Given the description of an element on the screen output the (x, y) to click on. 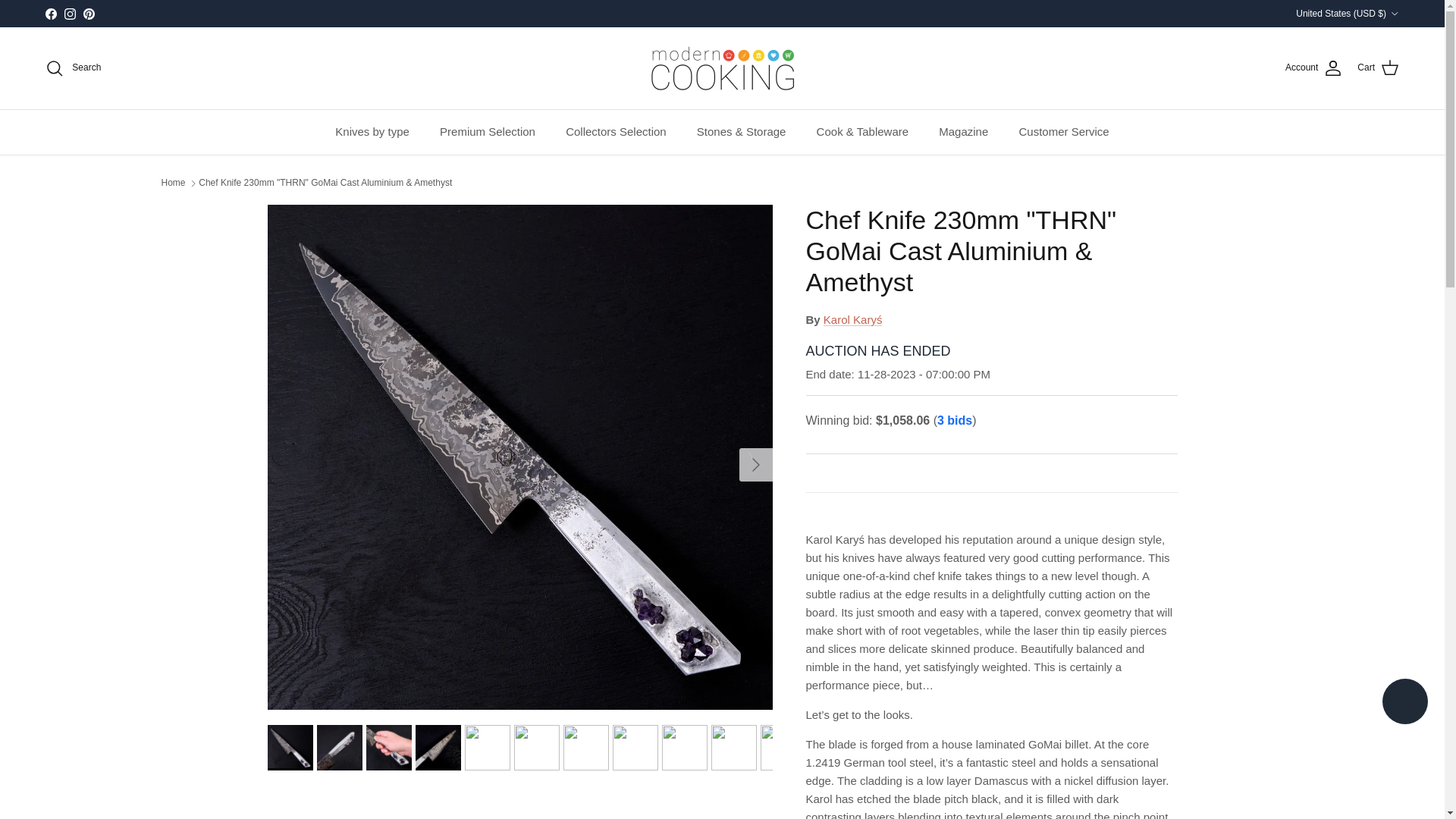
moderncooking.com on Instagram (69, 12)
Knives by type (372, 131)
Search (72, 67)
Pinterest (88, 12)
Account (1313, 67)
Facebook (50, 12)
moderncooking.com on Facebook (50, 12)
Instagram (69, 12)
Cart (1377, 67)
moderncooking.com (721, 68)
